Given the description of an element on the screen output the (x, y) to click on. 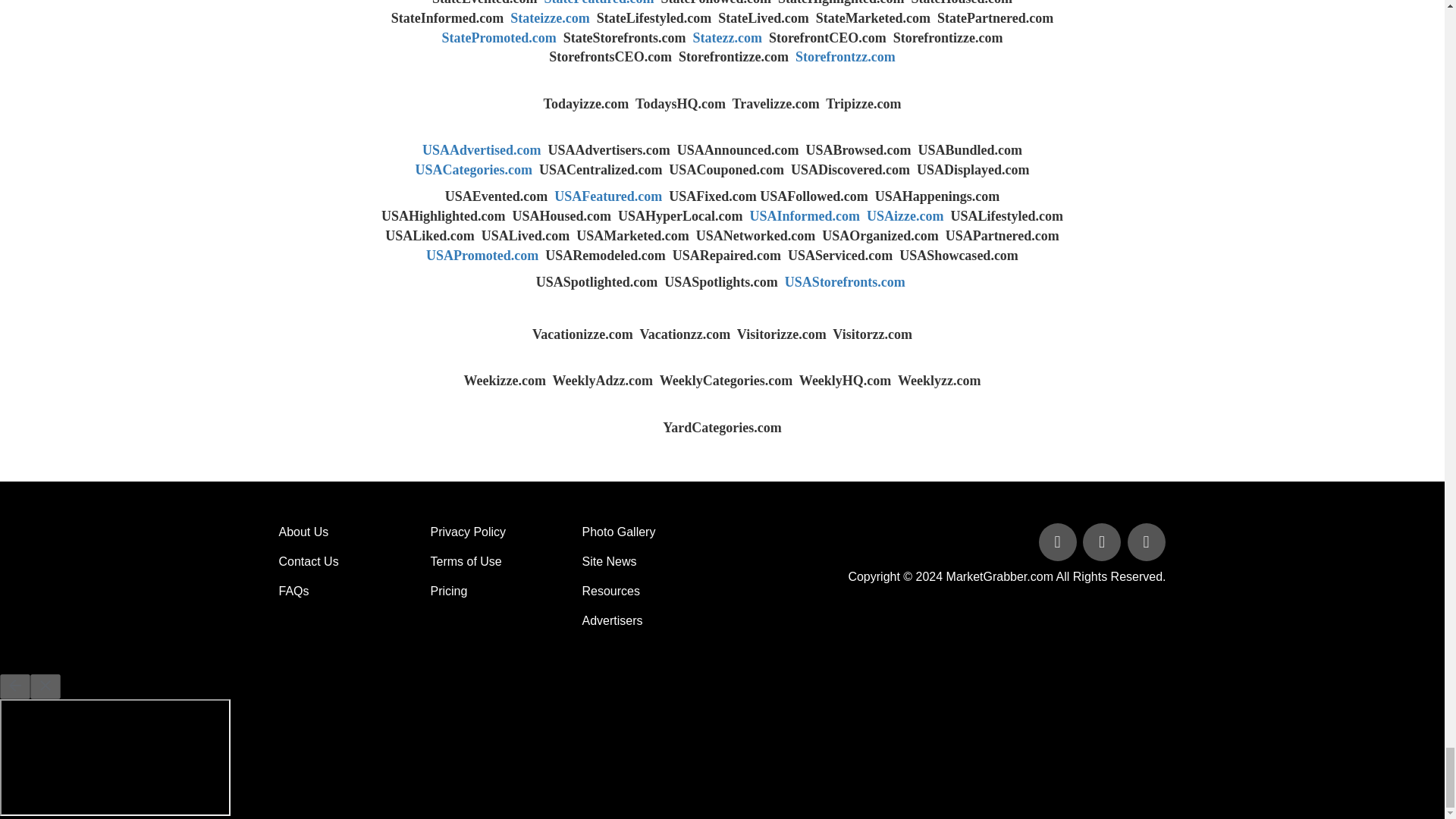
Follow Us on Facebook (1058, 543)
Follow Us on Twitter (1103, 543)
Follow Us on Linked In (1145, 543)
